Given the description of an element on the screen output the (x, y) to click on. 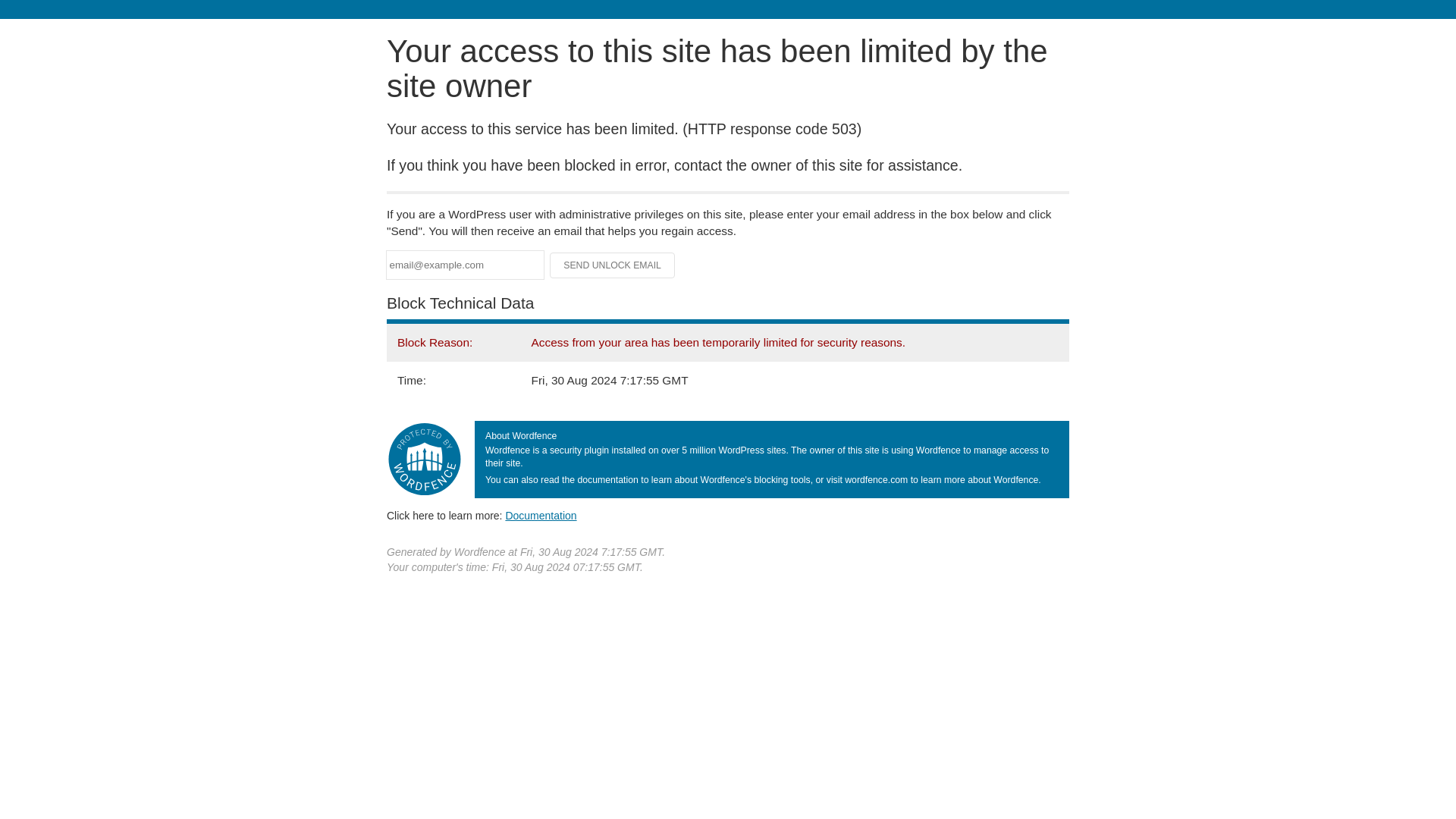
Documentation (540, 515)
Send Unlock Email (612, 265)
Send Unlock Email (612, 265)
